Given the description of an element on the screen output the (x, y) to click on. 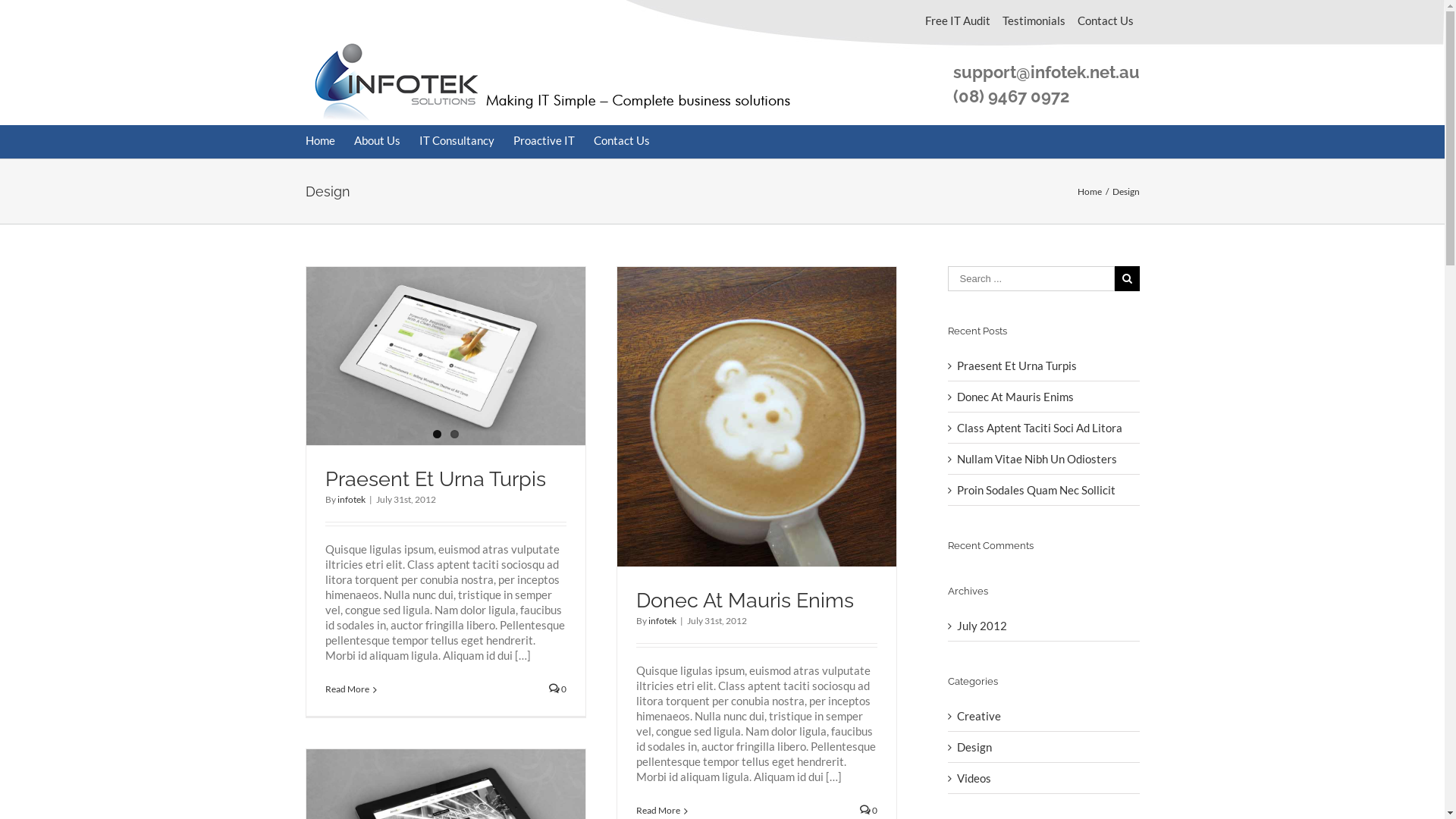
1 Element type: text (437, 433)
Donec At Mauris Enims Element type: text (744, 599)
 0 Element type: text (557, 688)
Read More Element type: text (657, 809)
Praesent Et Urna Turpis Element type: text (1016, 365)
Testimonials Element type: text (1033, 20)
Contact Us Element type: text (1104, 20)
Nullam Vitae Nibh Un Odiosters Element type: text (1037, 458)
Read More Element type: text (346, 688)
Free IT Audit Element type: text (957, 20)
2 Element type: text (454, 433)
Proactive IT Element type: text (543, 141)
Creative Element type: text (1044, 715)
Home Element type: text (319, 141)
infotek Element type: text (350, 499)
Class Aptent Taciti Soci Ad Litora Element type: text (1039, 427)
Proin Sodales Quam Nec Sollicit Element type: text (1036, 489)
Design Element type: text (1044, 746)
July 2012 Element type: text (982, 625)
Contact Us Element type: text (621, 141)
Donec At Mauris Enims Element type: text (1015, 396)
 0 Element type: text (868, 809)
Home Element type: text (1088, 190)
IT Consultancy Element type: text (455, 141)
Praesent Et Urna Turpis Element type: text (434, 478)
Videos Element type: text (1044, 777)
About Us Element type: text (376, 141)
infotek Element type: text (661, 620)
